Given the description of an element on the screen output the (x, y) to click on. 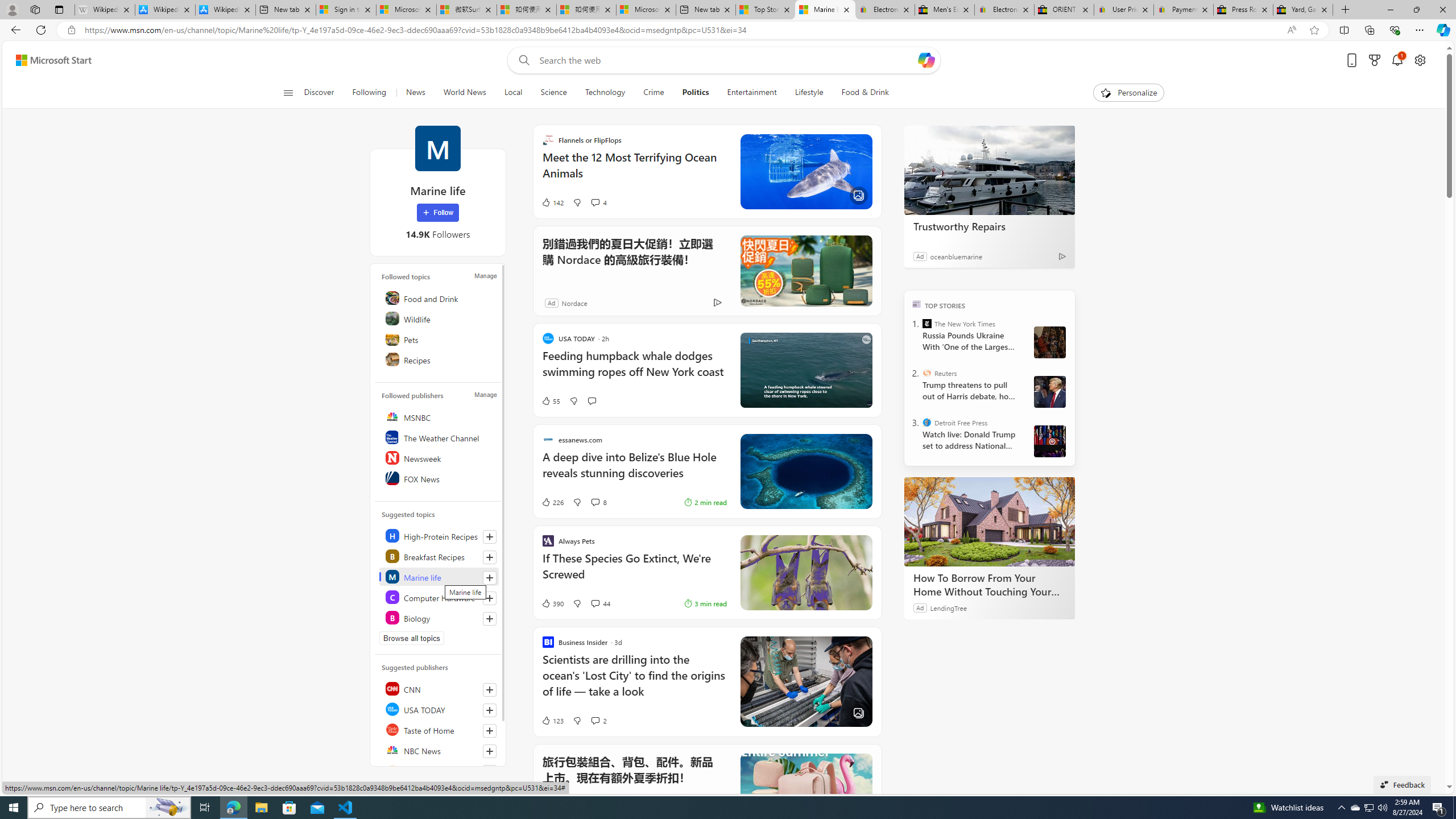
View comments 2 Comment (594, 719)
View comments 8 Comment (598, 502)
View comments 8 Comment (594, 501)
